Given the description of an element on the screen output the (x, y) to click on. 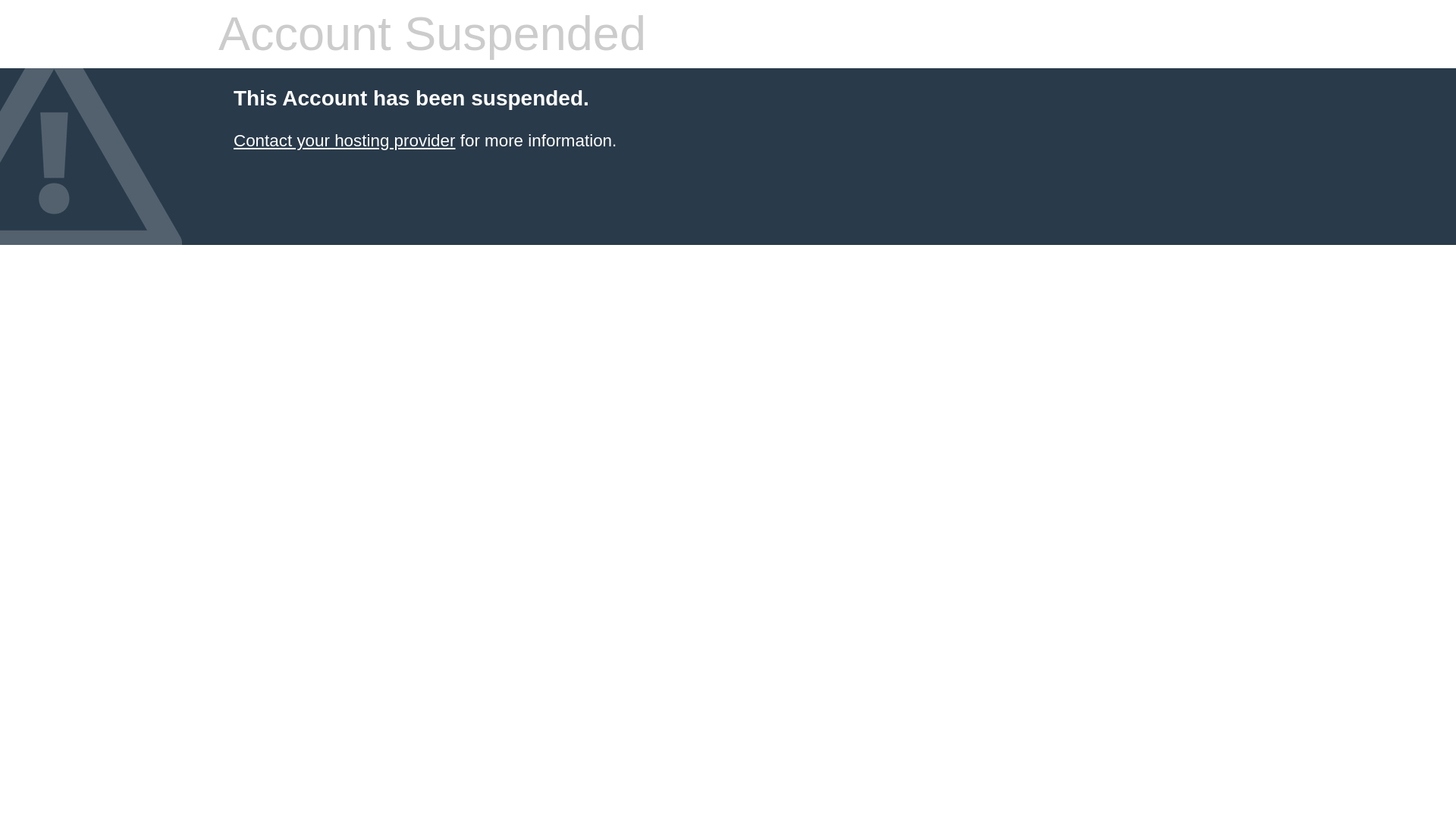
Contact your hosting provider (343, 140)
